Given the description of an element on the screen output the (x, y) to click on. 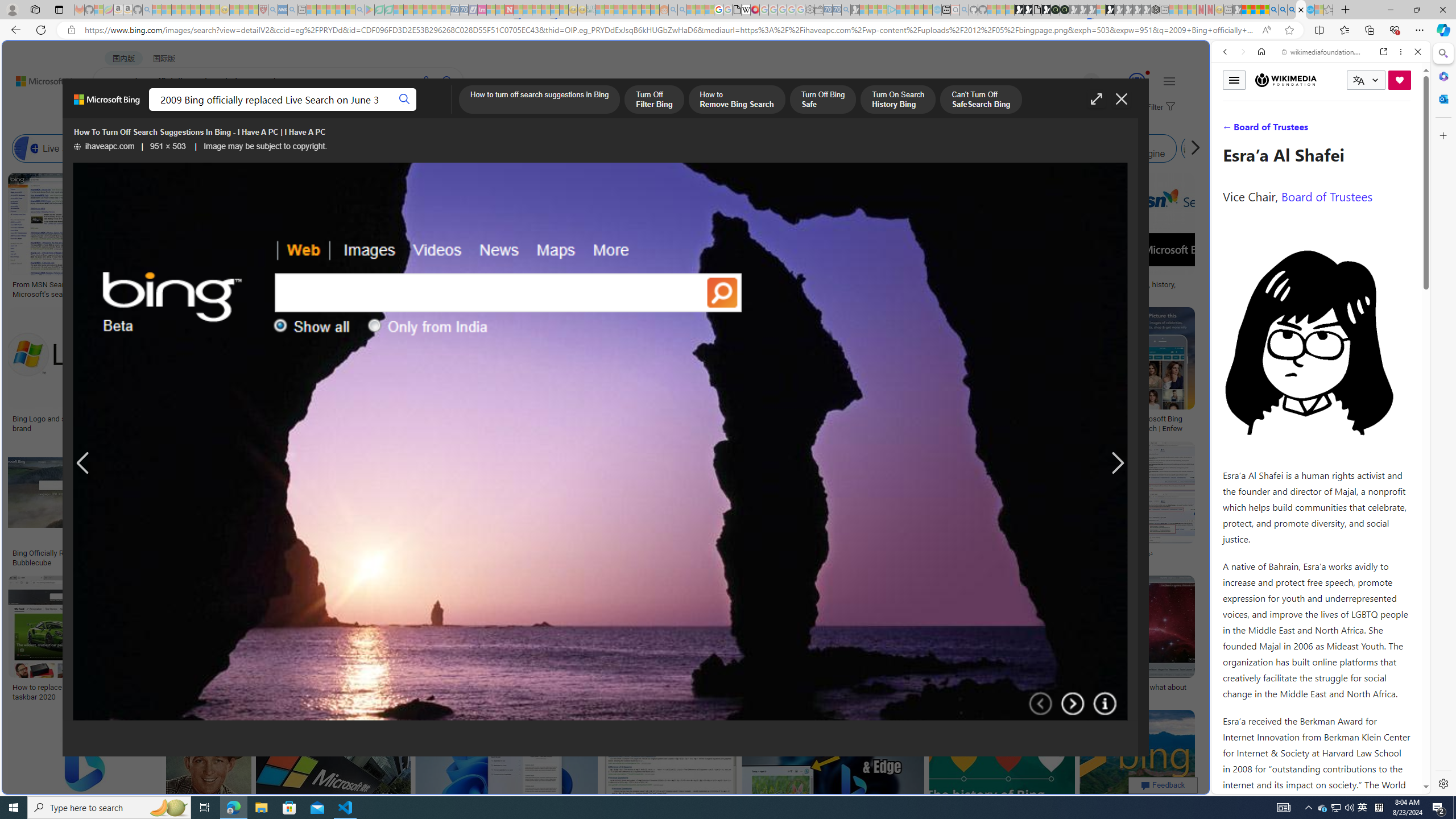
SEARCH TOOLS (1350, 130)
Play Zoo Boom in your browser | Games from Microsoft Start (1027, 9)
Bing - SEOLend (278, 552)
Bing Word Search (368, 148)
